Given the description of an element on the screen output the (x, y) to click on. 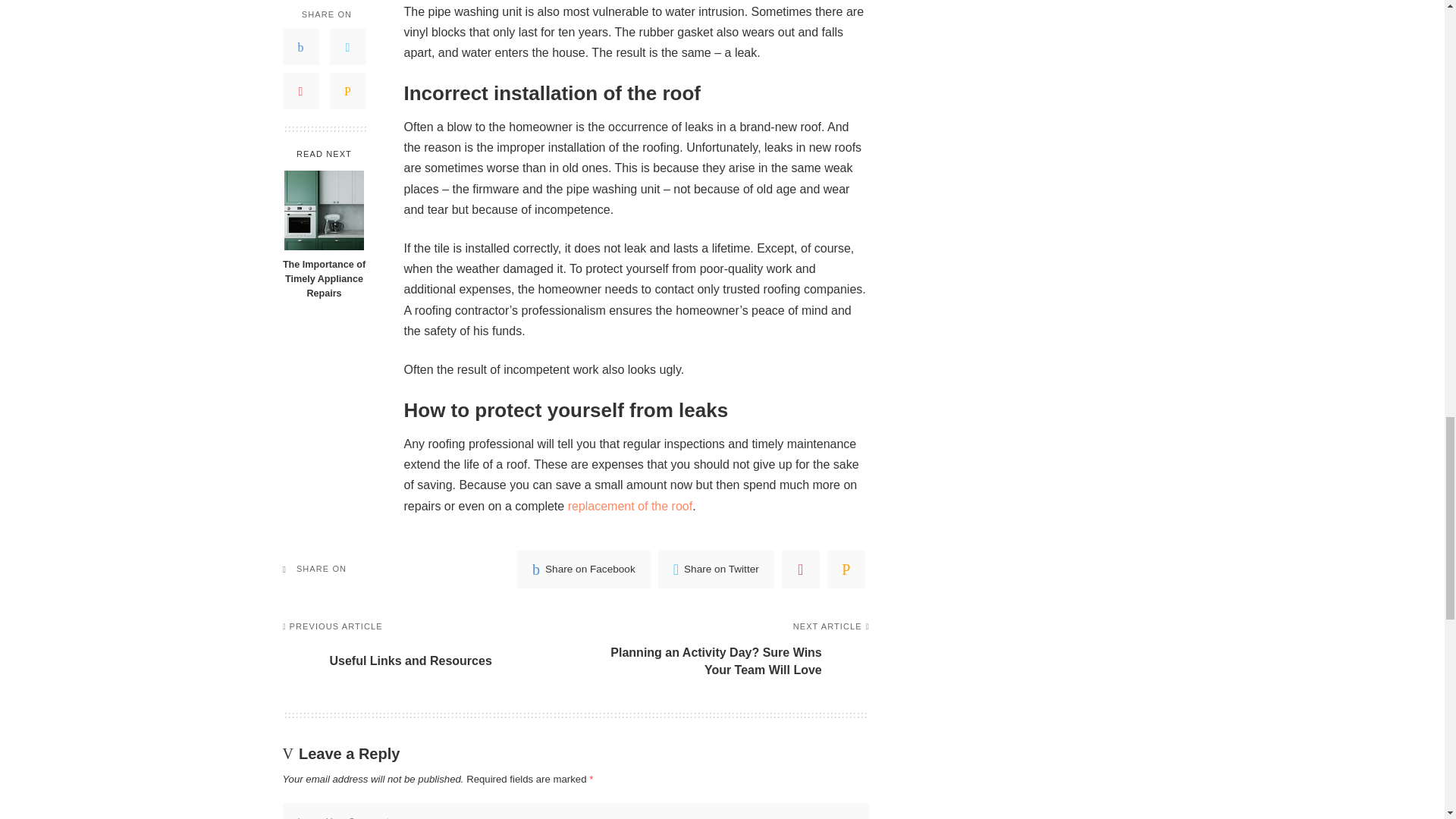
Twitter (716, 569)
Facebook (583, 569)
Email (845, 569)
Pinterest (800, 569)
